Given the description of an element on the screen output the (x, y) to click on. 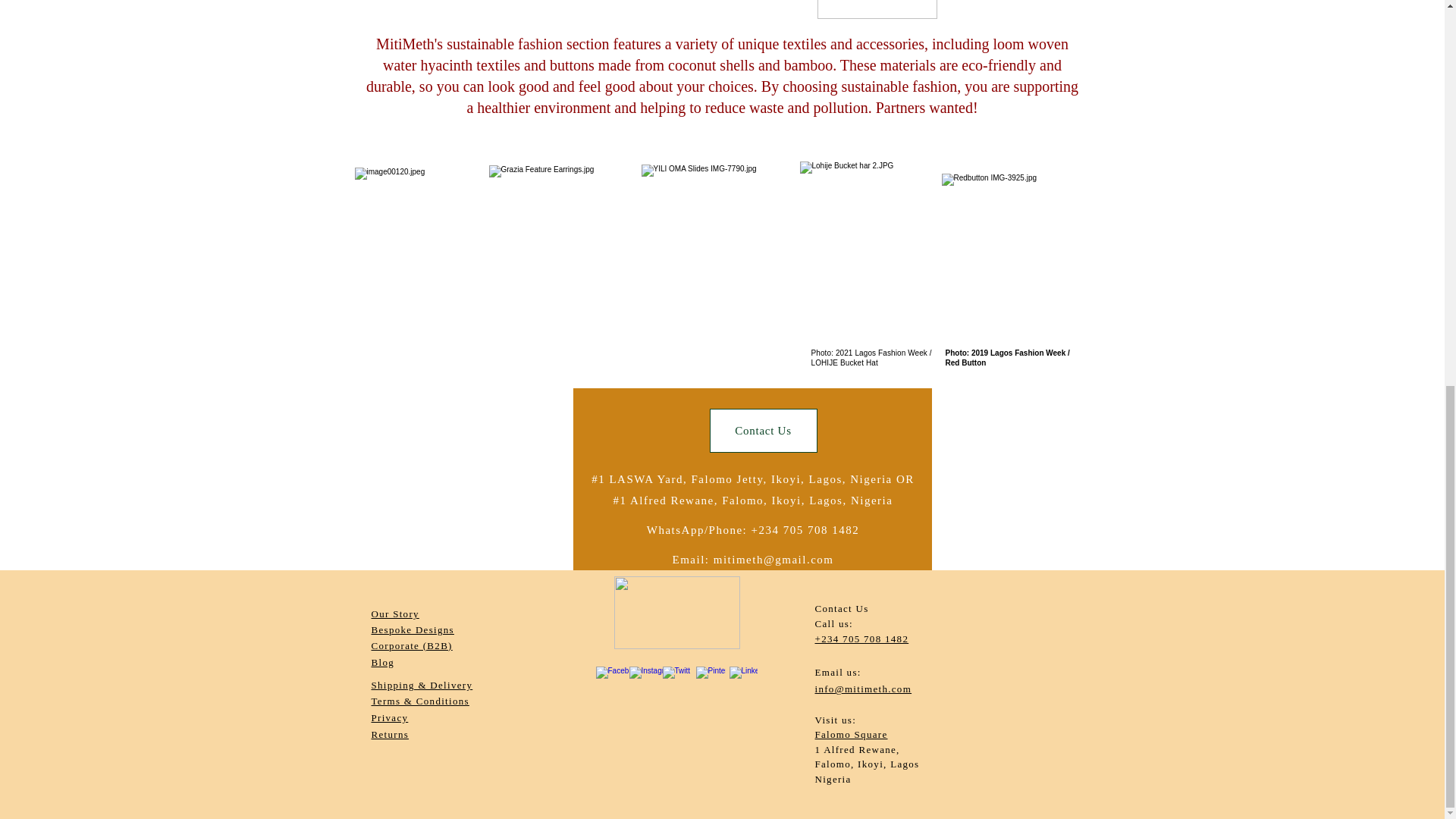
Returns (390, 734)
Bespoke Designs (412, 629)
Privacy (390, 717)
Contact Us (763, 430)
Blog (382, 662)
new logo png.png (676, 612)
Hartleys.png (876, 9)
Our Story (395, 613)
